Given the description of an element on the screen output the (x, y) to click on. 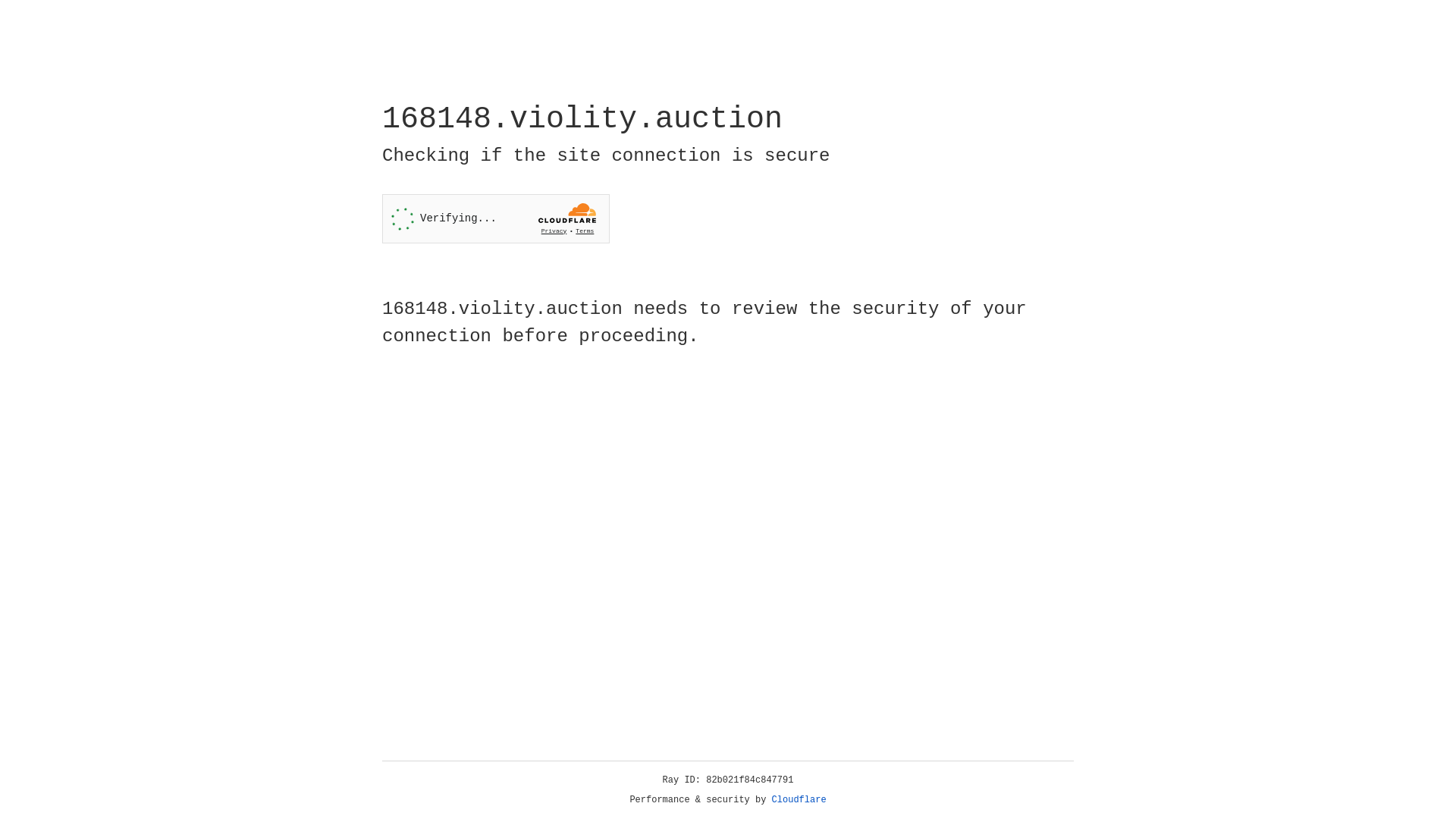
Widget containing a Cloudflare security challenge Element type: hover (495, 218)
Cloudflare Element type: text (798, 799)
